Given the description of an element on the screen output the (x, y) to click on. 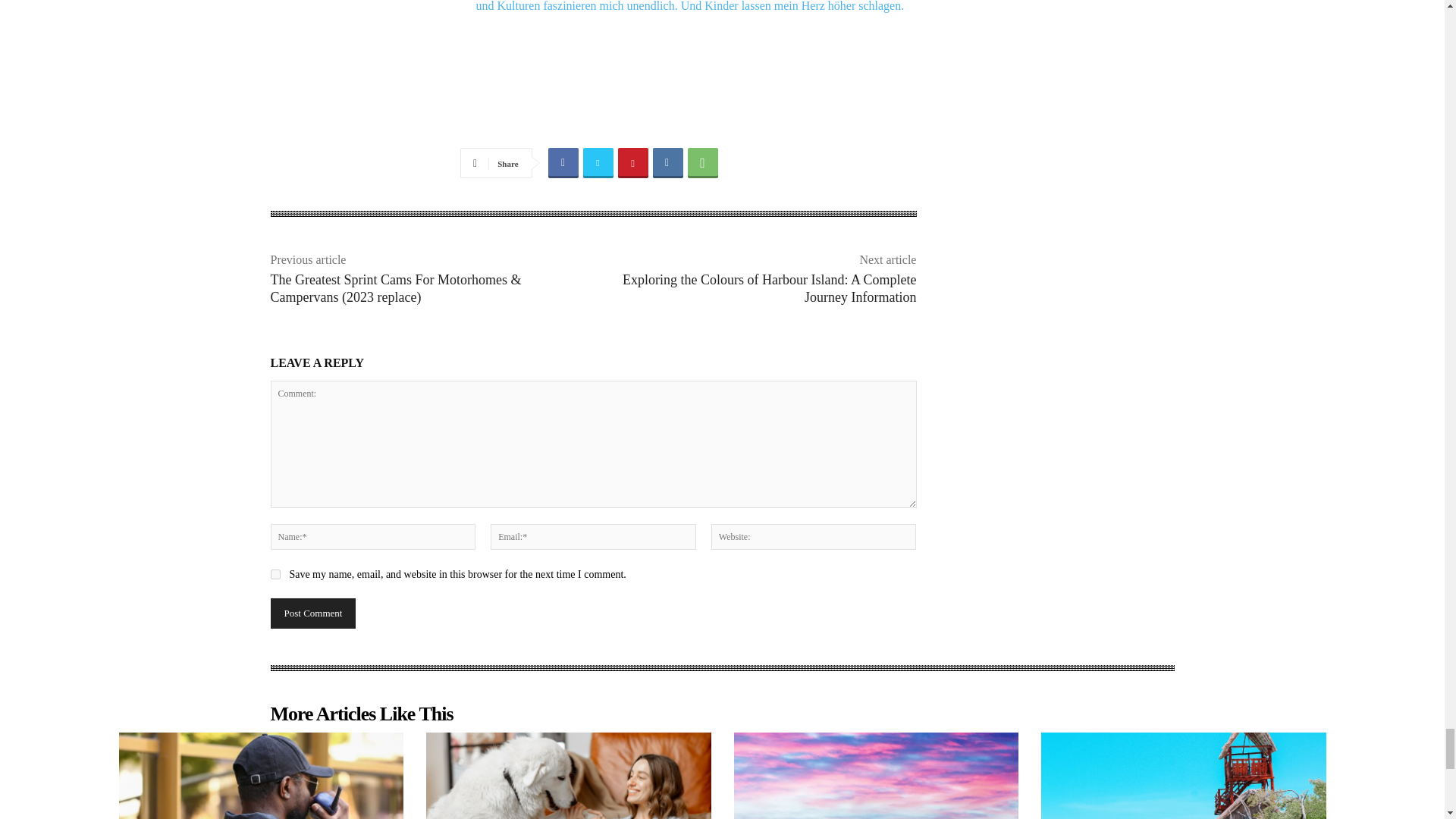
Post Comment (312, 613)
yes (274, 574)
